Given the description of an element on the screen output the (x, y) to click on. 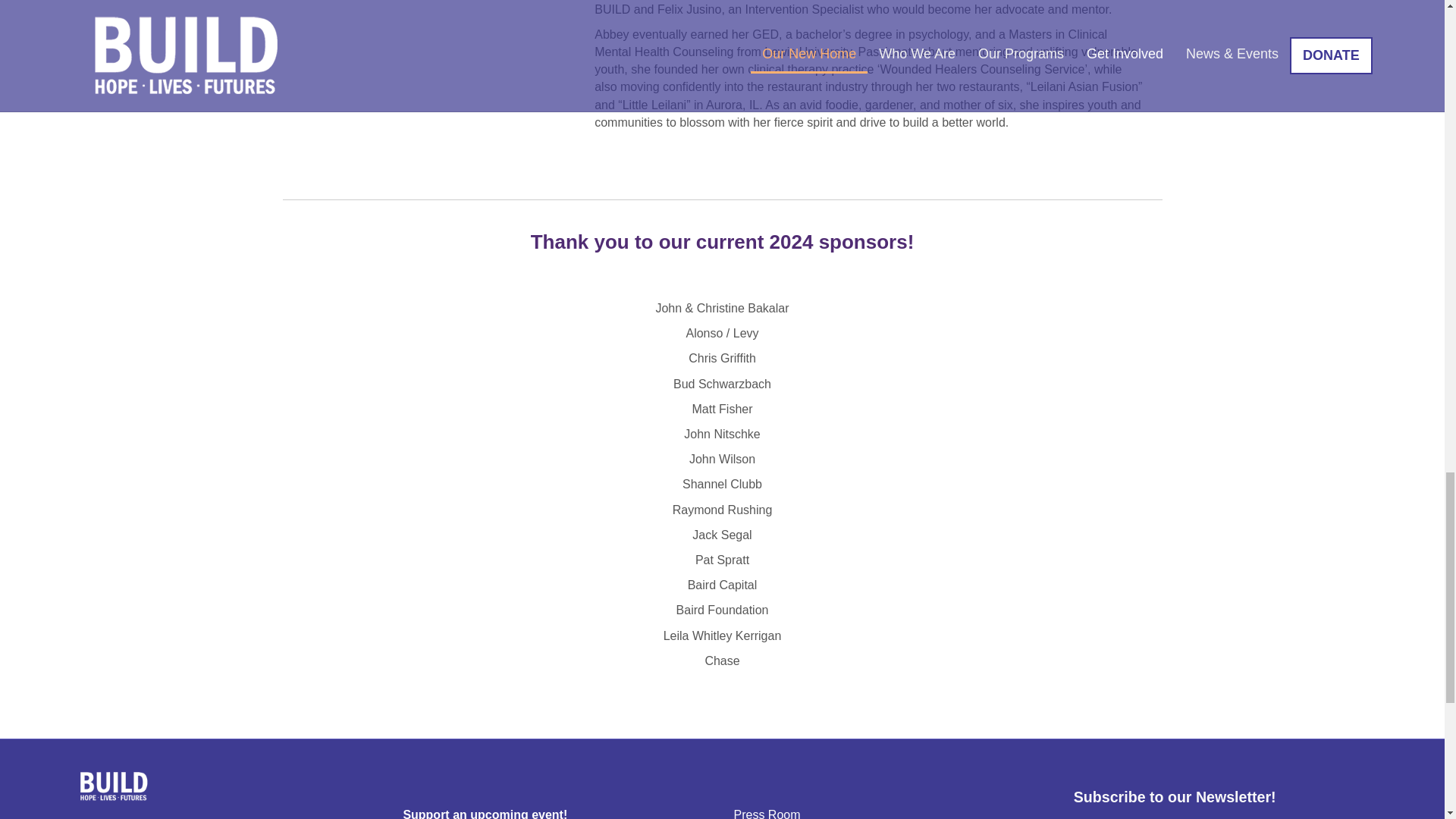
Support an upcoming event! (485, 813)
